Given the description of an element on the screen output the (x, y) to click on. 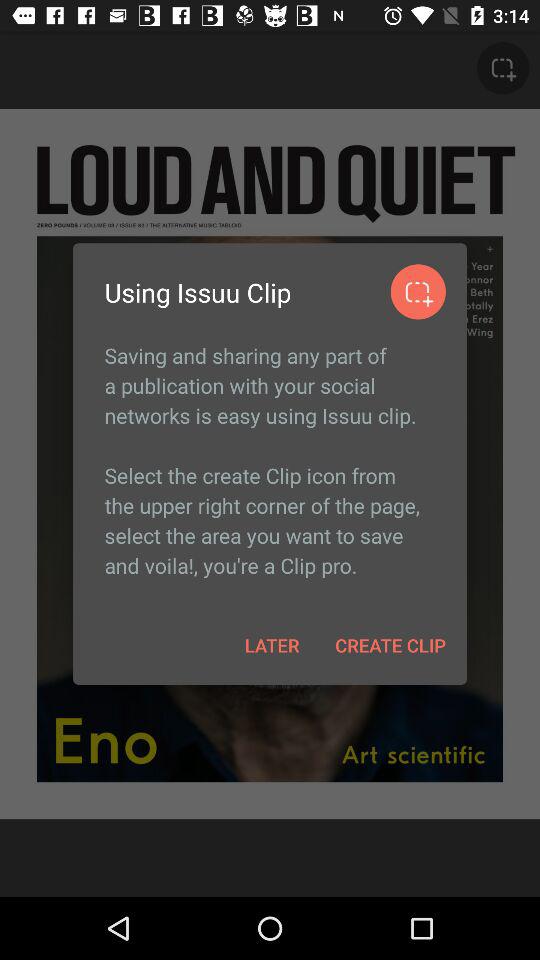
open item below saving and sharing (272, 644)
